Given the description of an element on the screen output the (x, y) to click on. 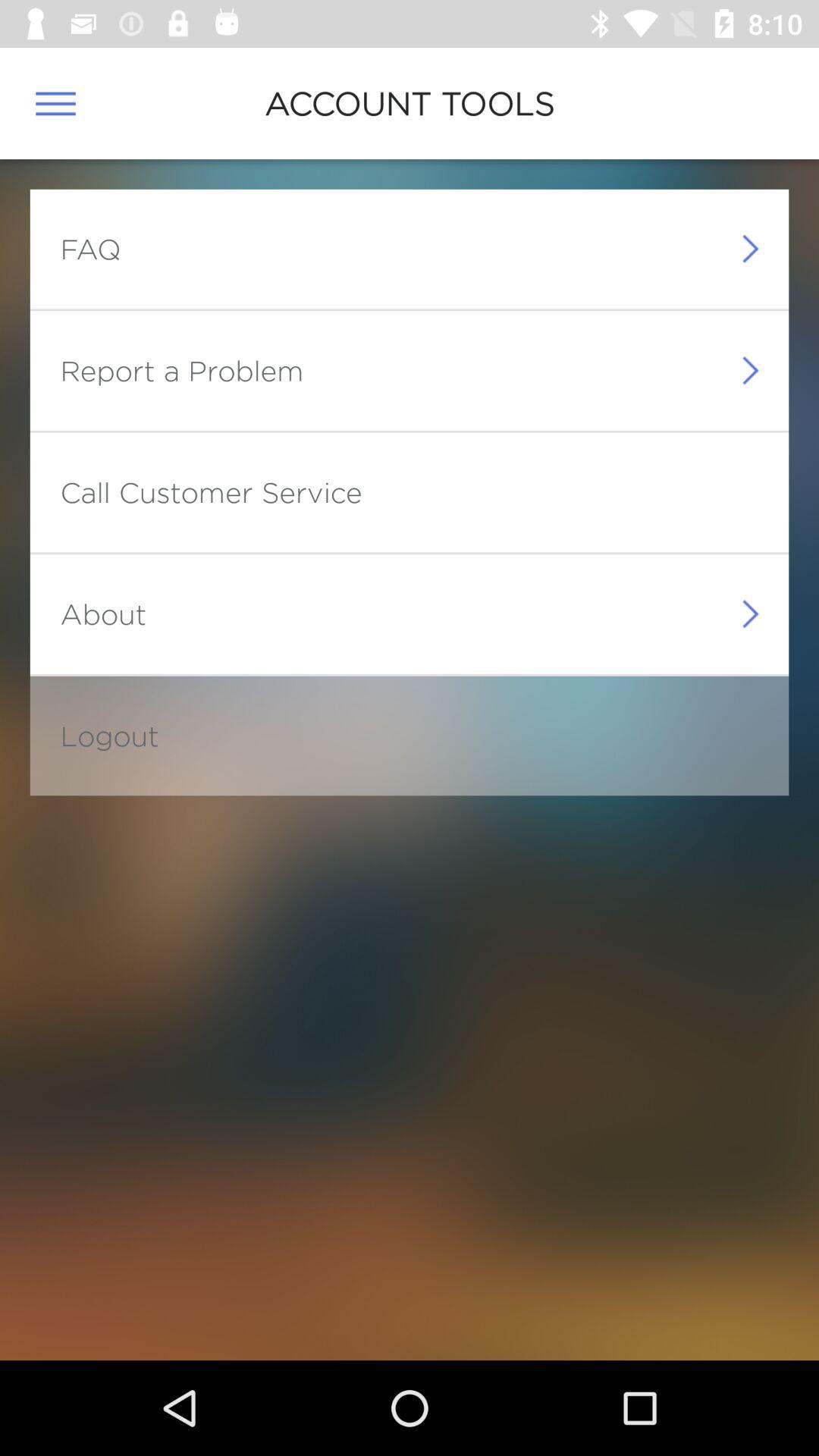
jump until the call customer service icon (211, 491)
